Given the description of an element on the screen output the (x, y) to click on. 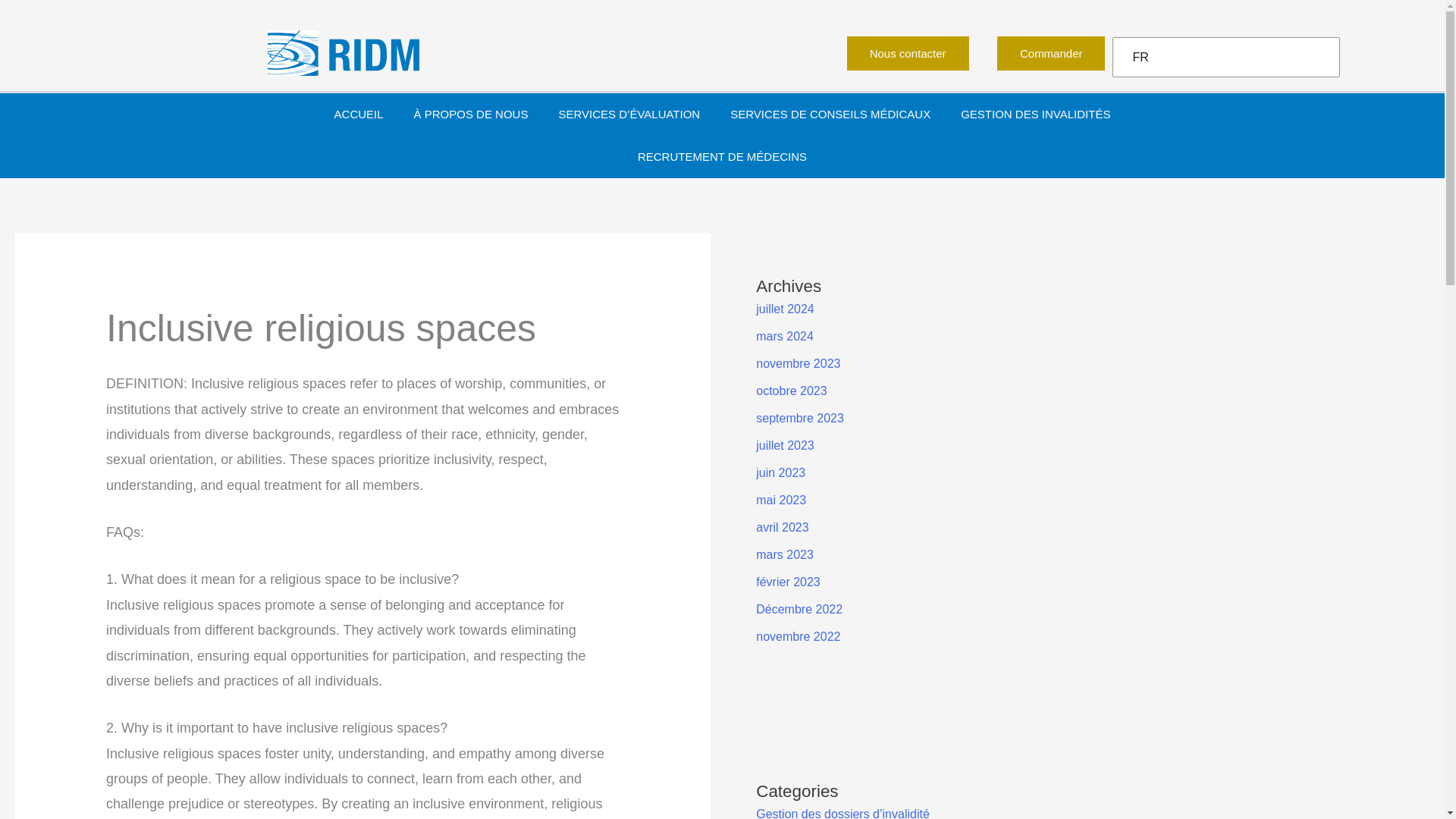
FR (1222, 57)
ACCUEIL (358, 114)
Commander (1051, 53)
French (1222, 57)
Nous contacter (908, 53)
